Given the description of an element on the screen output the (x, y) to click on. 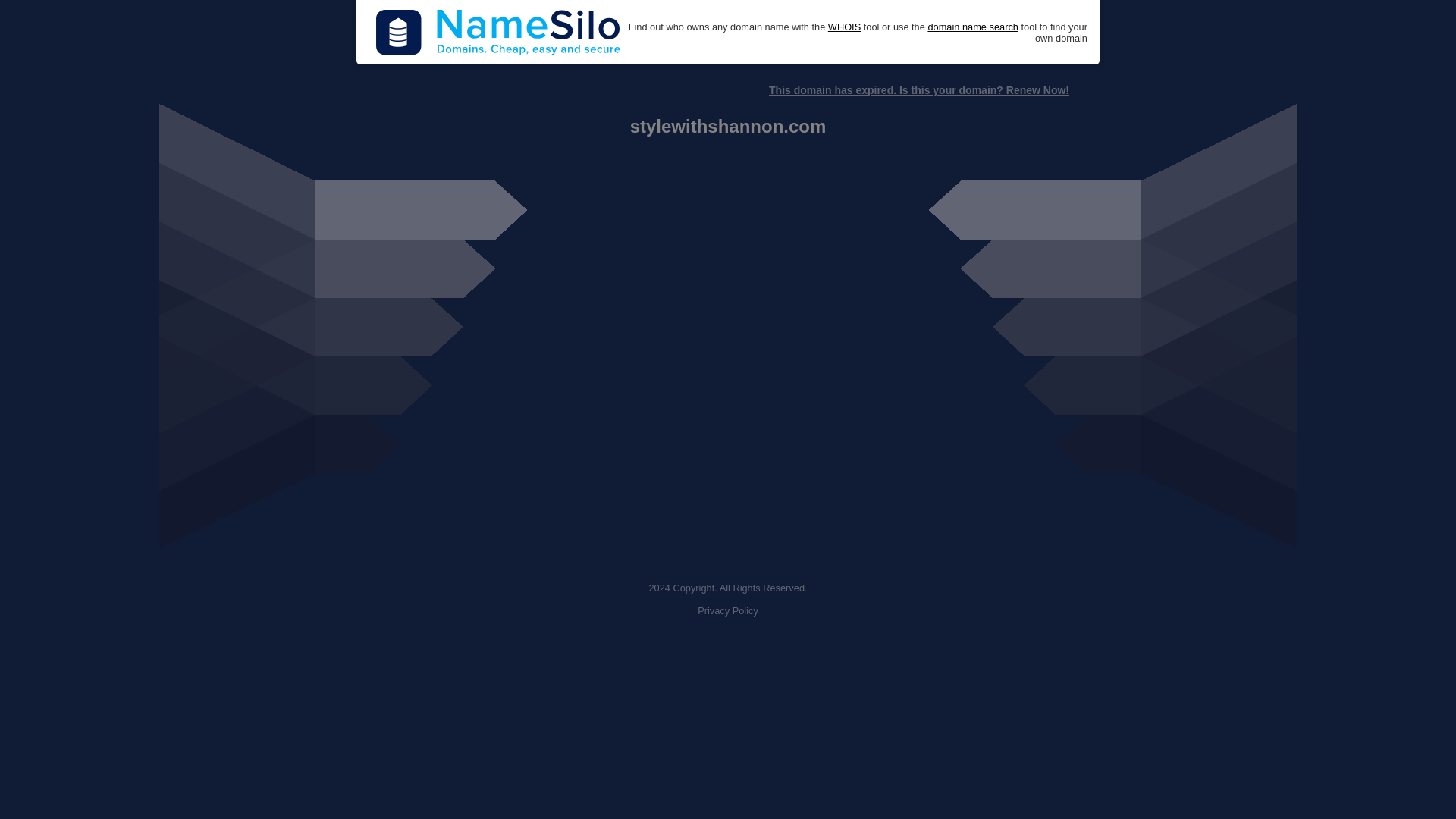
Privacy Policy (727, 610)
domain name search (972, 26)
This domain has expired. Is this your domain? Renew Now! (918, 90)
WHOIS (844, 26)
